Given the description of an element on the screen output the (x, y) to click on. 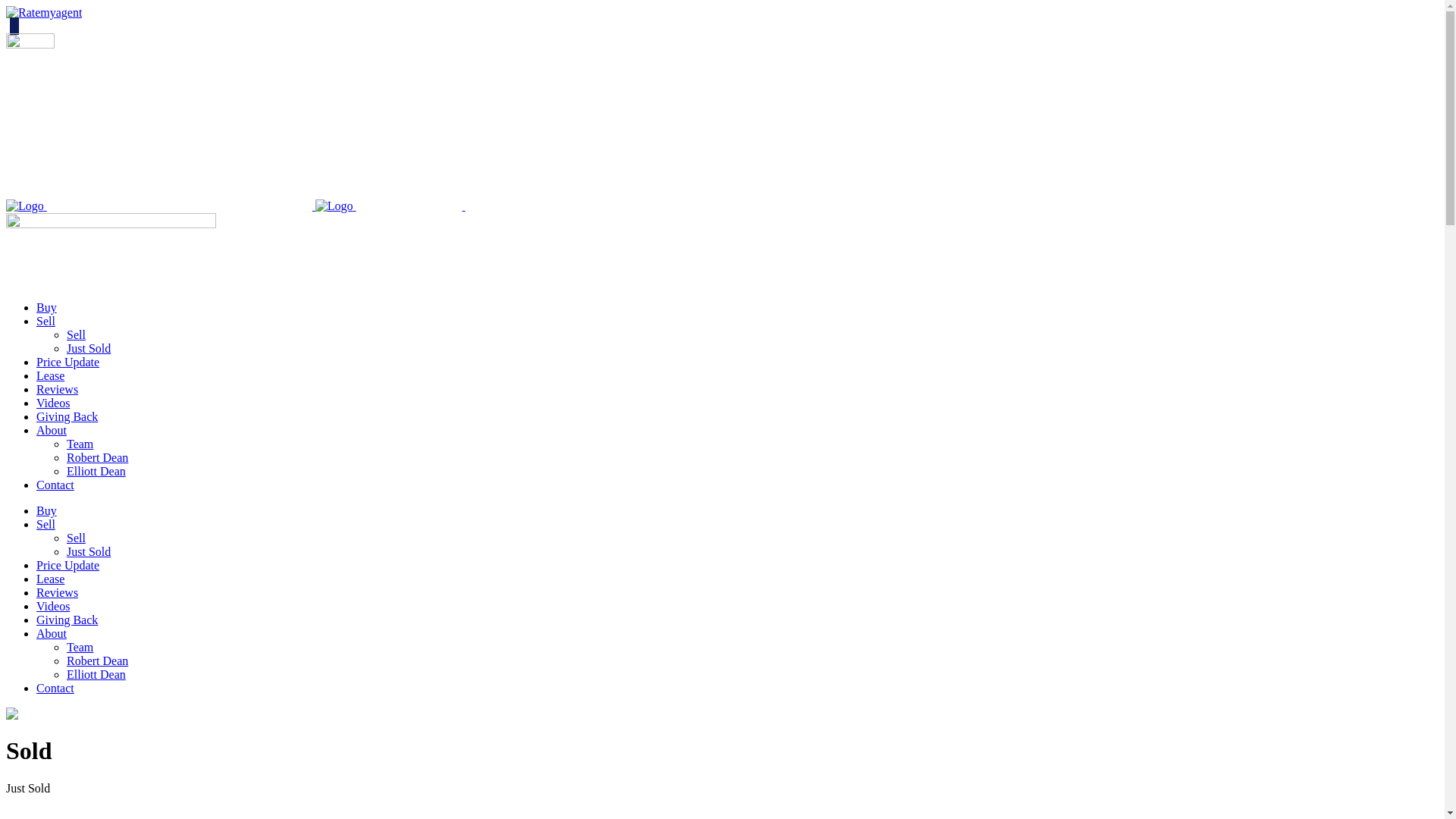
Lease Element type: text (50, 578)
Team Element type: text (79, 646)
Robert Dean Element type: text (97, 457)
Sell Element type: text (75, 334)
Videos Element type: text (52, 402)
Contact Element type: text (55, 687)
Lease Element type: text (50, 375)
Team Element type: text (79, 443)
Price Update Element type: text (67, 361)
Contact Element type: text (55, 484)
Just Sold Element type: text (88, 551)
Videos Element type: text (52, 605)
Price Update Element type: text (67, 564)
Buy Element type: text (46, 307)
Reviews Element type: text (57, 592)
Robert Dean Element type: text (97, 660)
Buy Element type: text (46, 510)
Sell Element type: text (75, 537)
Sell Element type: text (45, 320)
Sell Element type: text (45, 523)
Elliott Dean Element type: text (95, 674)
About Element type: text (51, 633)
Elliott Dean Element type: text (95, 470)
Giving Back Element type: text (66, 619)
About Element type: text (51, 429)
Reviews Element type: text (57, 388)
Giving Back Element type: text (66, 416)
Just Sold Element type: text (88, 348)
